Given the description of an element on the screen output the (x, y) to click on. 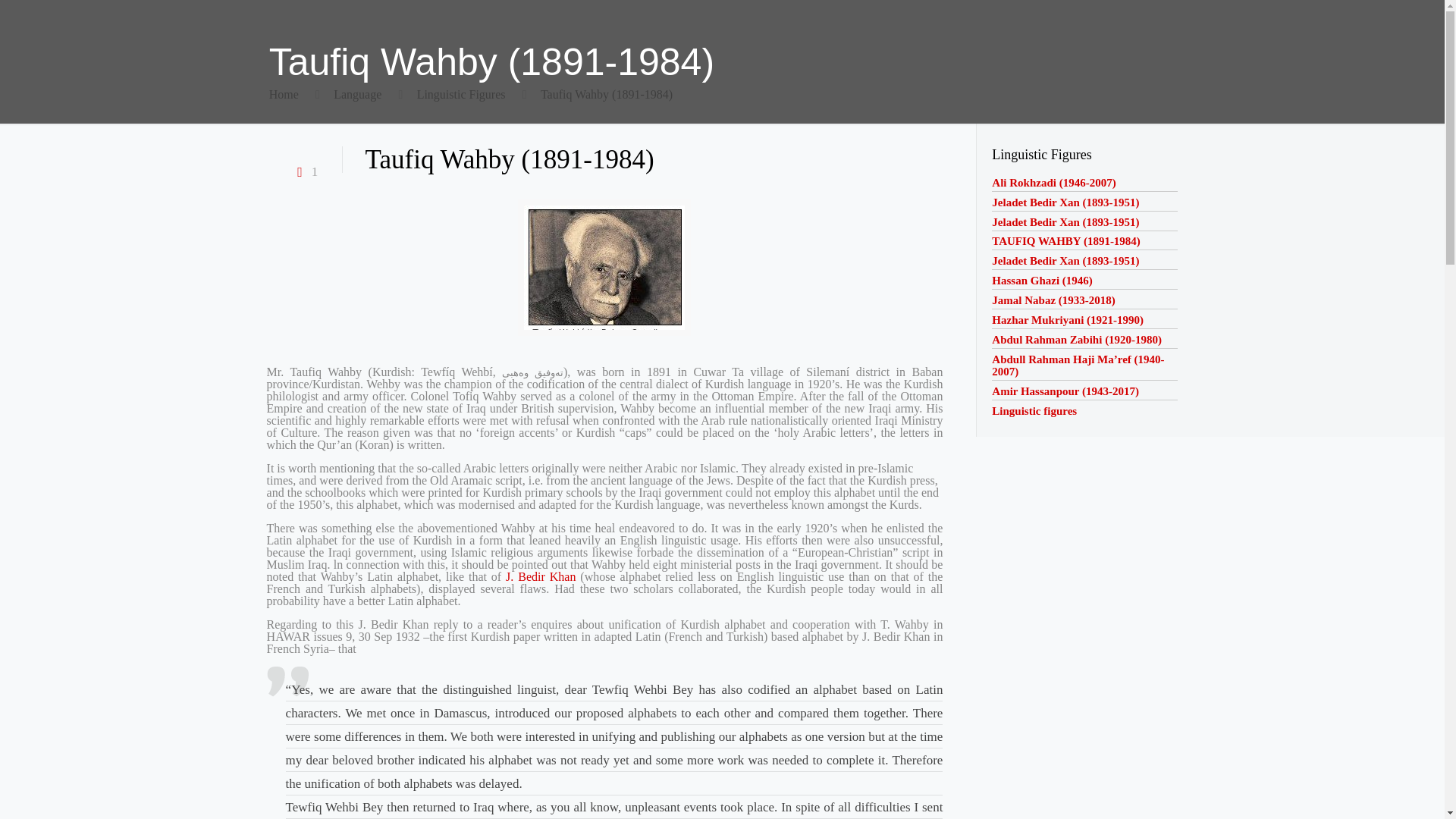
Language (357, 93)
Home (283, 93)
Linguistic figures (1034, 410)
Linguistic Figures (460, 93)
